Given the description of an element on the screen output the (x, y) to click on. 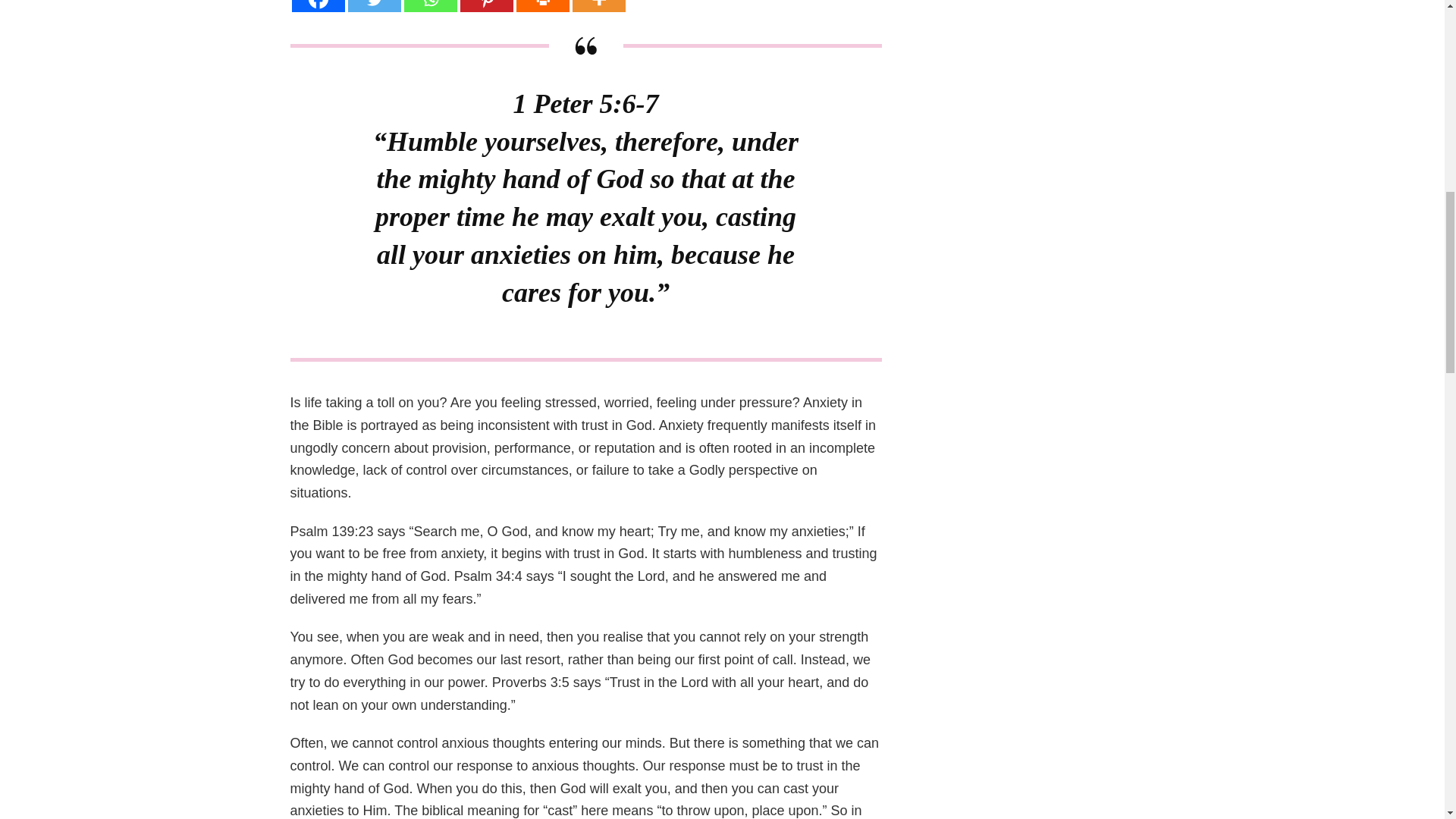
More (598, 6)
Pinterest (486, 6)
Whatsapp (430, 6)
Print (542, 6)
Twitter (373, 6)
Facebook (317, 6)
